Given the description of an element on the screen output the (x, y) to click on. 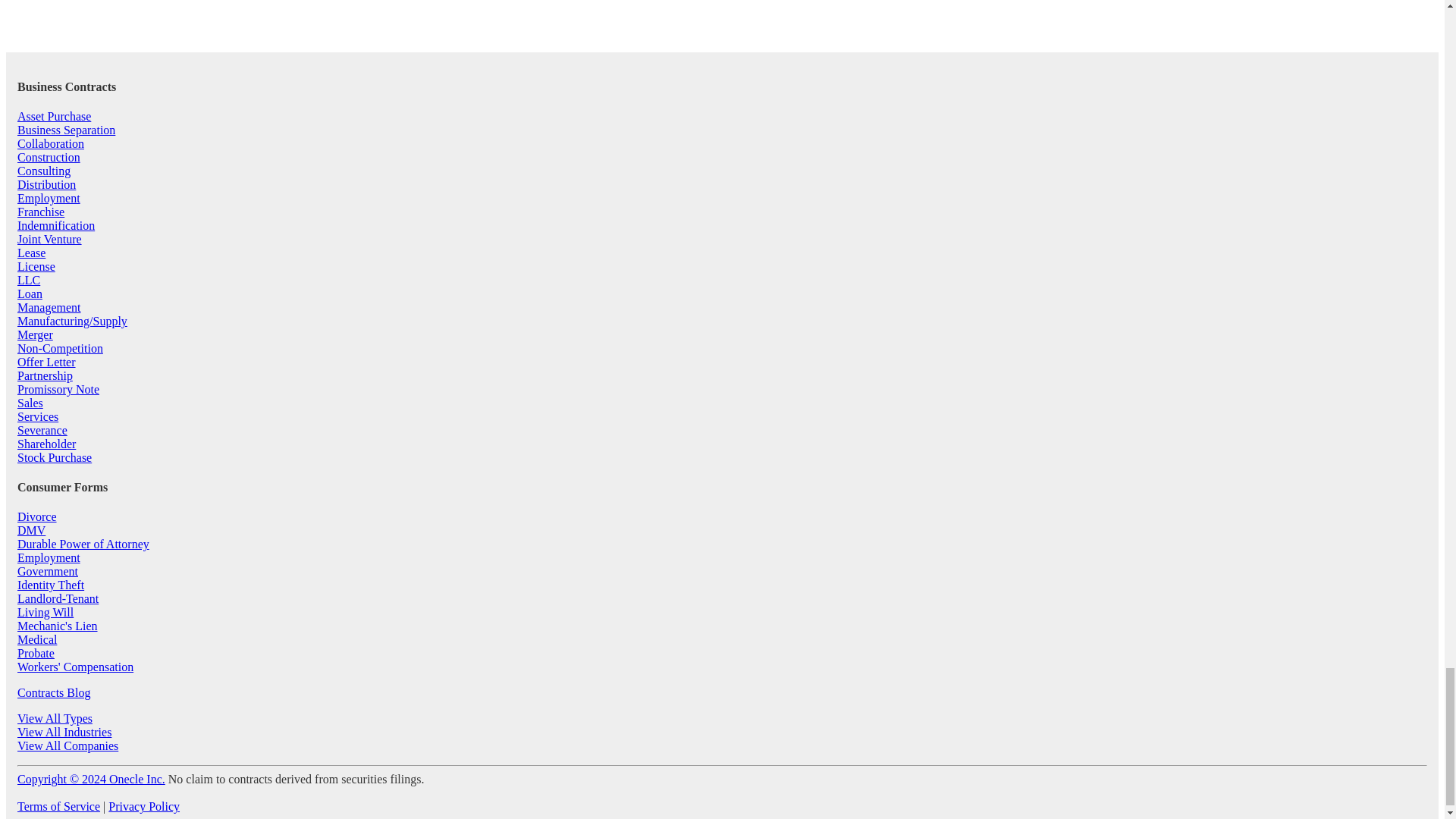
Loan (29, 293)
Distribution (46, 184)
Partnership (44, 375)
Indemnification (55, 225)
Joint Venture (49, 238)
Management (49, 307)
Franchise (40, 211)
Business Separation (66, 129)
Asset Purchase (53, 115)
Lease (31, 252)
Offer Letter (46, 361)
License (36, 266)
Non-Competition (60, 348)
Collaboration (50, 143)
Employment (48, 197)
